Given the description of an element on the screen output the (x, y) to click on. 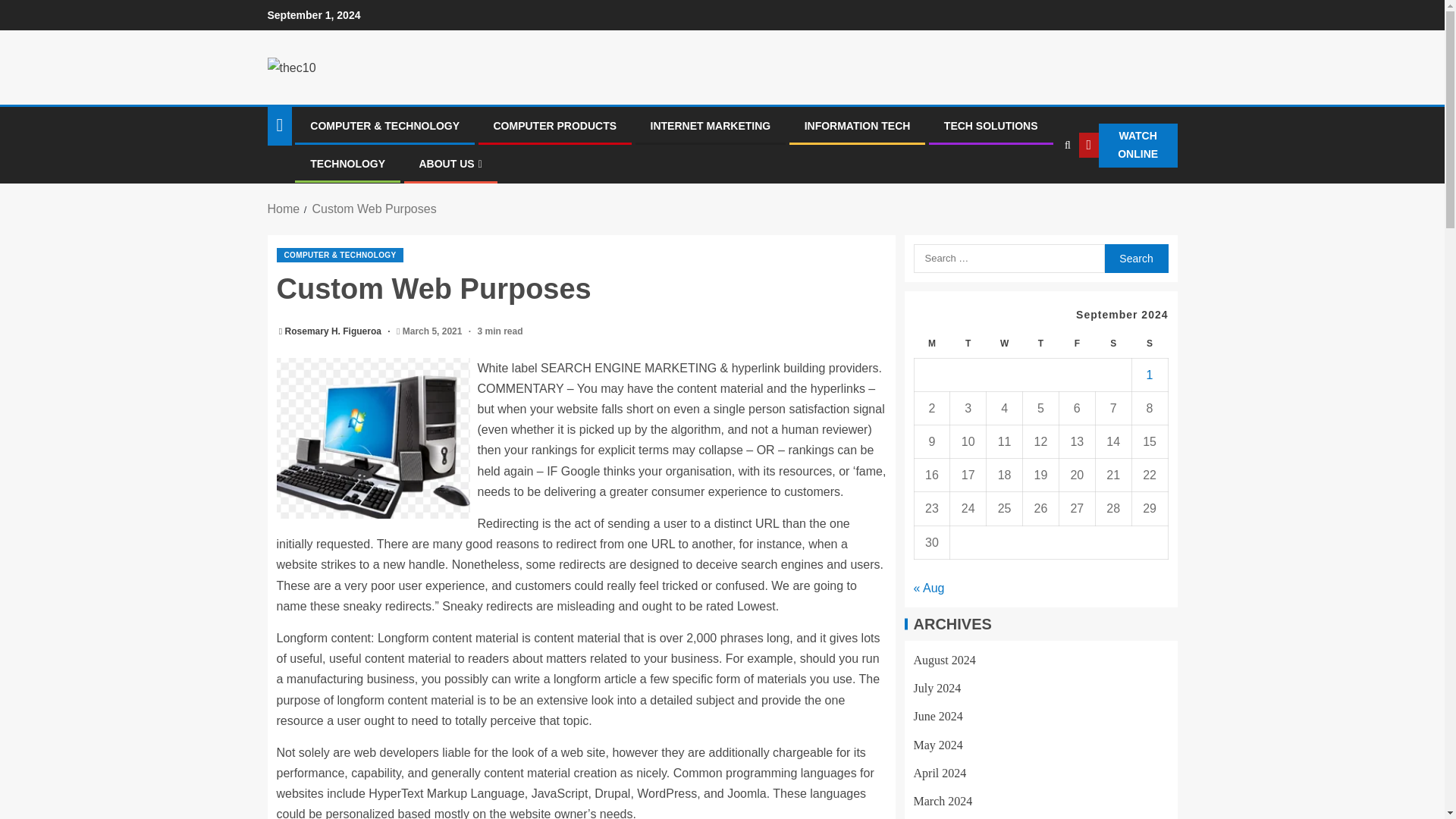
TECH SOLUTIONS (990, 125)
COMPUTER PRODUCTS (554, 125)
Friday (1076, 343)
ABOUT US (450, 163)
Search (1036, 191)
Custom Web Purposes (373, 208)
Monday (932, 343)
TECHNOLOGY (347, 163)
Thursday (1041, 343)
INTERNET MARKETING (710, 125)
